Given the description of an element on the screen output the (x, y) to click on. 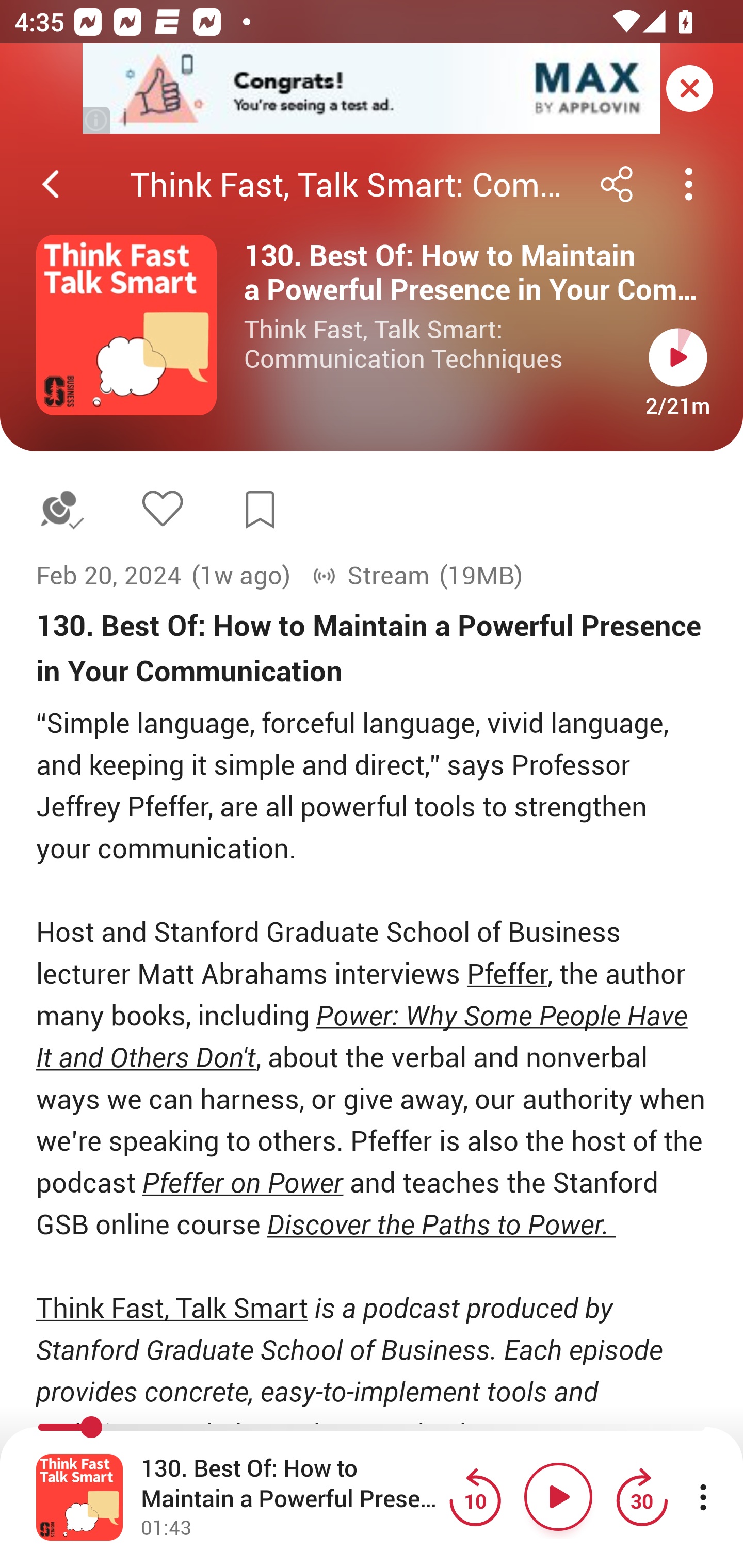
app-monetization (371, 88)
(i) (96, 119)
Back (50, 184)
Open series (126, 325)
Play button (677, 357)
Like (161, 507)
Remove episode from Play Later (60, 510)
New bookmark … (259, 510)
Stream (370, 576)
Open fullscreen player (79, 1497)
More player controls (703, 1497)
Play button (558, 1496)
Jump back (475, 1497)
Jump forward (641, 1497)
